Given the description of an element on the screen output the (x, y) to click on. 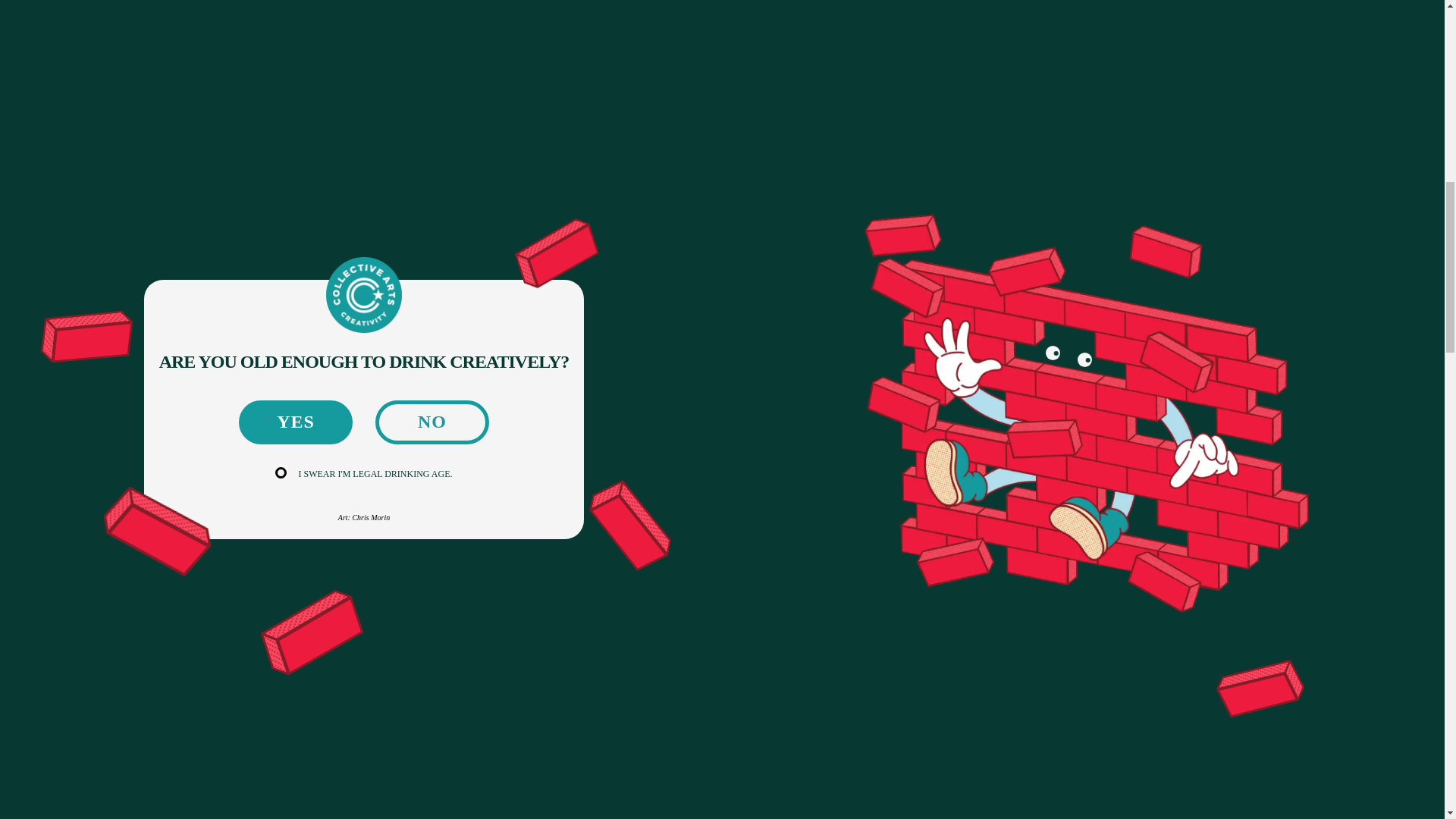
Series 25 (264, 126)
Artists (219, 126)
